Given the description of an element on the screen output the (x, y) to click on. 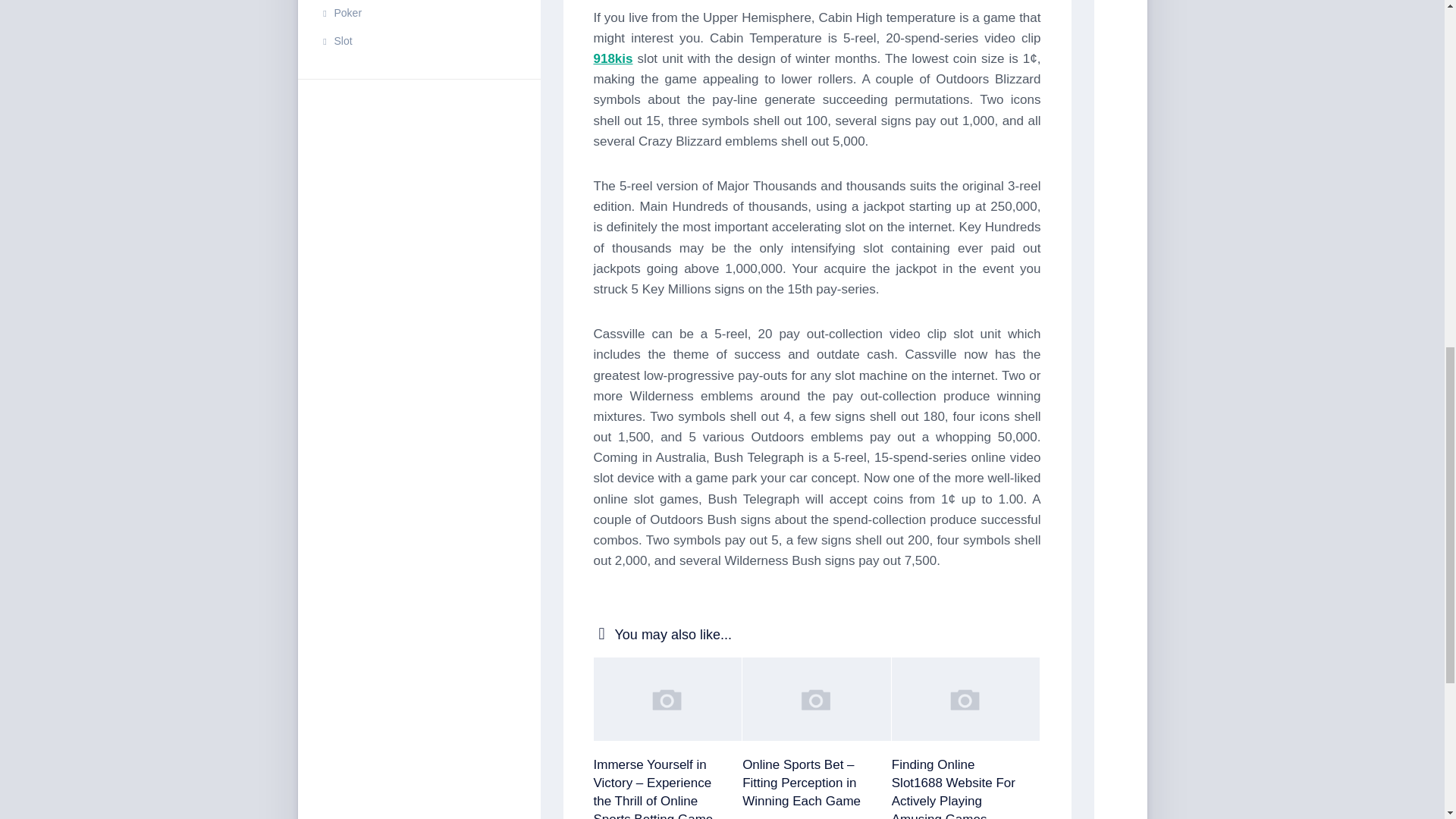
Poker (340, 12)
Slot (336, 40)
918kis (611, 58)
